Given the description of an element on the screen output the (x, y) to click on. 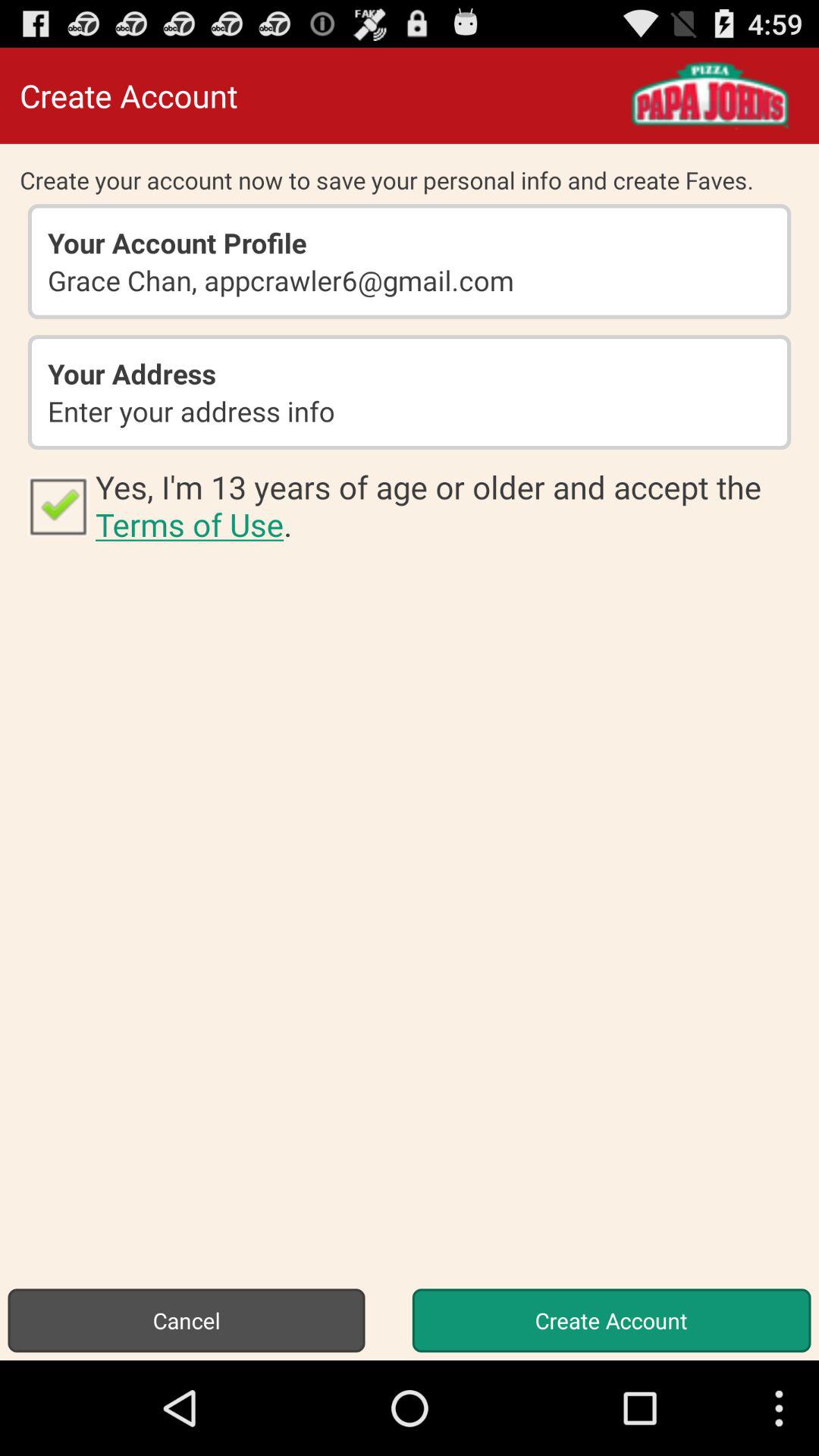
turn on the icon at the center (447, 505)
